Given the description of an element on the screen output the (x, y) to click on. 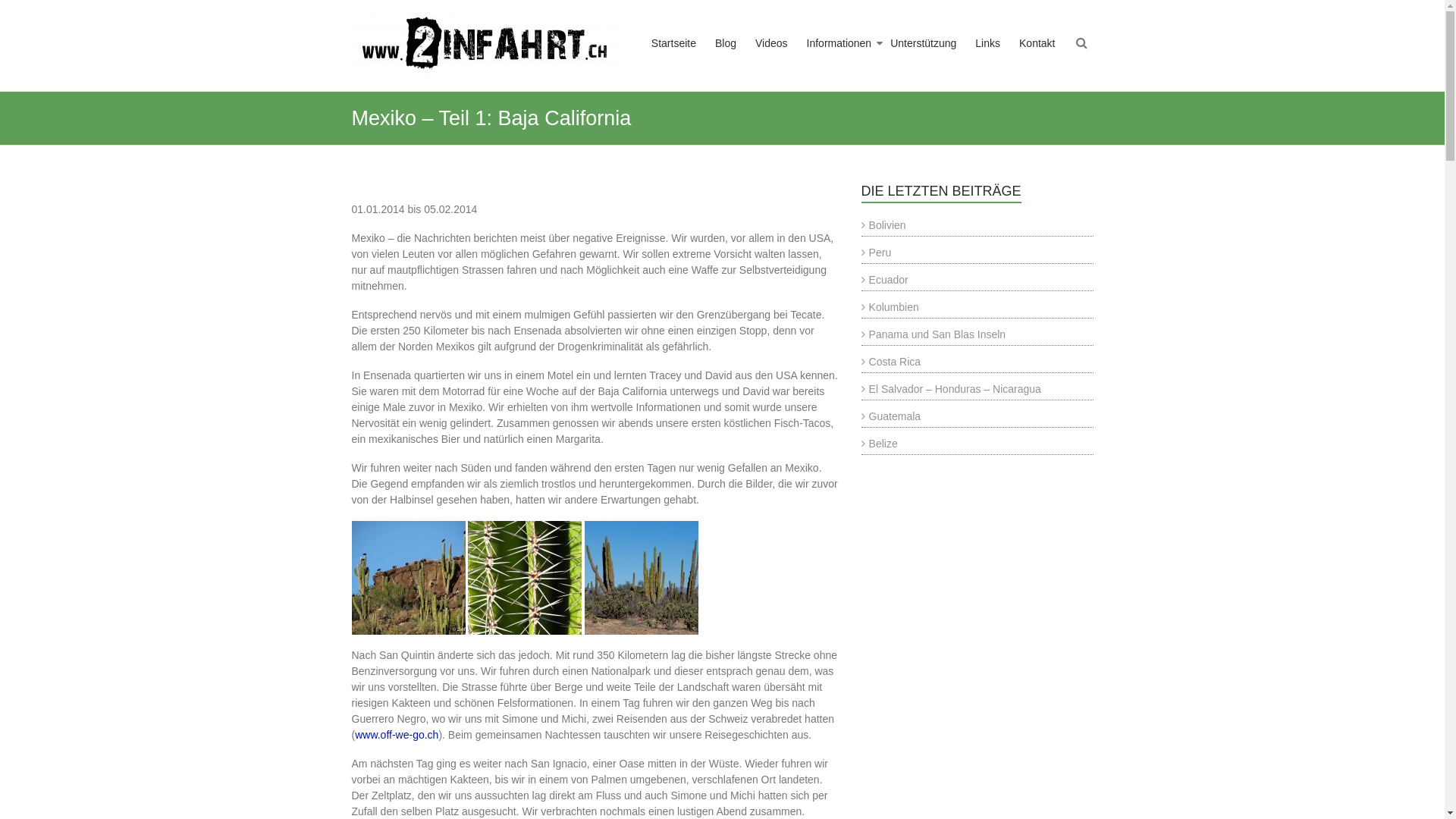
Videos Element type: text (771, 57)
Blog Element type: text (725, 57)
Belize Element type: text (879, 443)
Panama und San Blas Inseln Element type: text (933, 334)
Kontakt Element type: text (1036, 57)
Startseite Element type: text (673, 57)
Peru Element type: text (876, 252)
Kolumbien Element type: text (890, 307)
Costa Rica Element type: text (890, 361)
Guatemala Element type: text (890, 416)
Links Element type: text (987, 57)
Ecuador Element type: text (884, 279)
www.off-we-go.ch Element type: text (396, 734)
Bolivien Element type: text (883, 225)
Informationen Element type: text (839, 57)
